Given the description of an element on the screen output the (x, y) to click on. 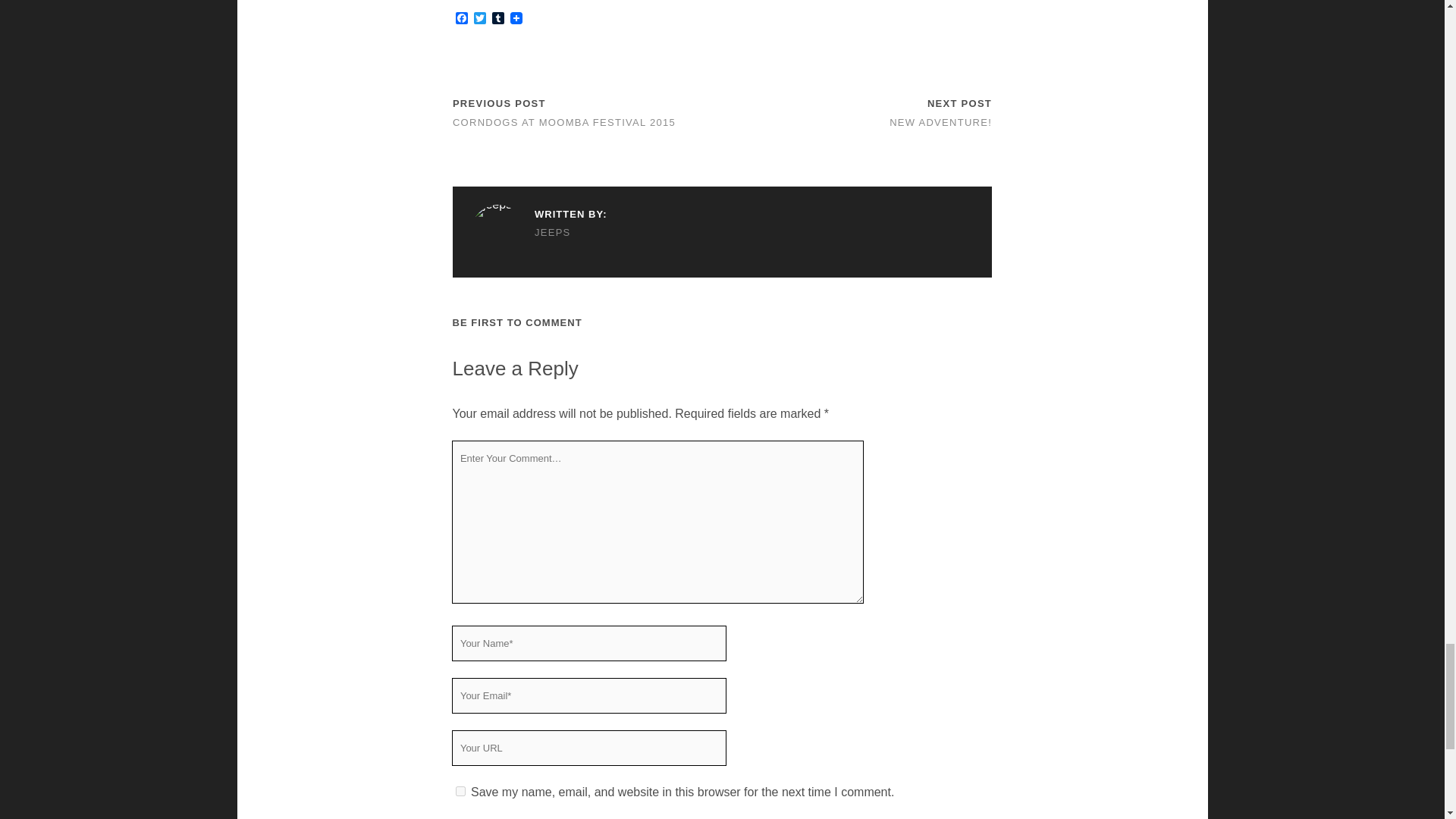
CORNDOGS AT MOOMBA FESTIVAL 2015 (563, 122)
yes (459, 791)
Twitter (479, 19)
Twitter (479, 19)
NEW ADVENTURE! (940, 122)
Facebook (461, 19)
Facebook (461, 19)
Tumblr (497, 19)
Tumblr (497, 19)
